Given the description of an element on the screen output the (x, y) to click on. 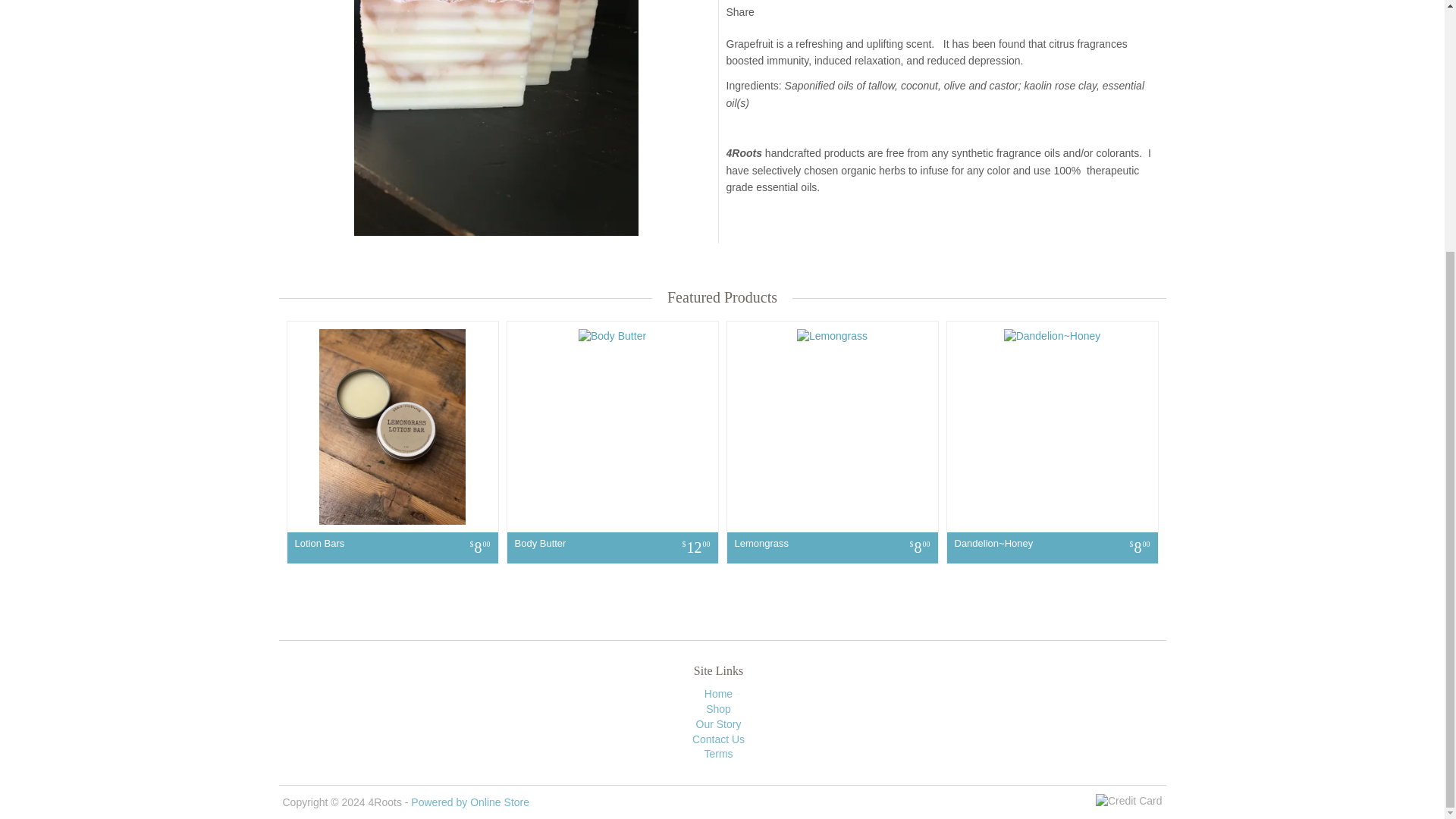
Home (718, 693)
